Given the description of an element on the screen output the (x, y) to click on. 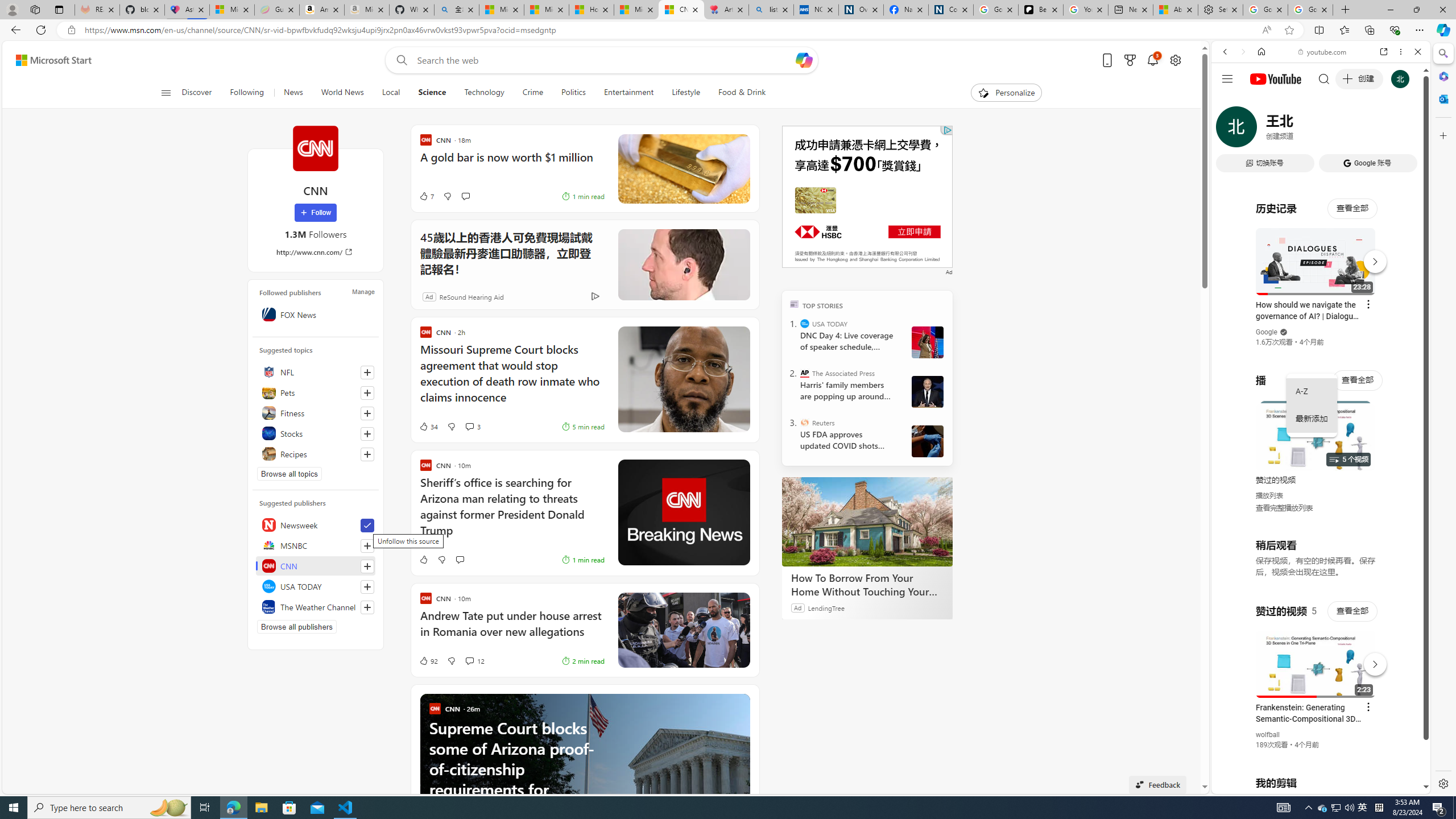
Search Filter, IMAGES (1262, 129)
list of asthma inhalers uk - Search (770, 9)
Follow (315, 212)
Browse all publishers (296, 626)
Show More Music (1390, 310)
Music (1320, 309)
Follow this source (367, 607)
How To Borrow From Your Home Without Touching Your Mortgage (866, 521)
